Given the description of an element on the screen output the (x, y) to click on. 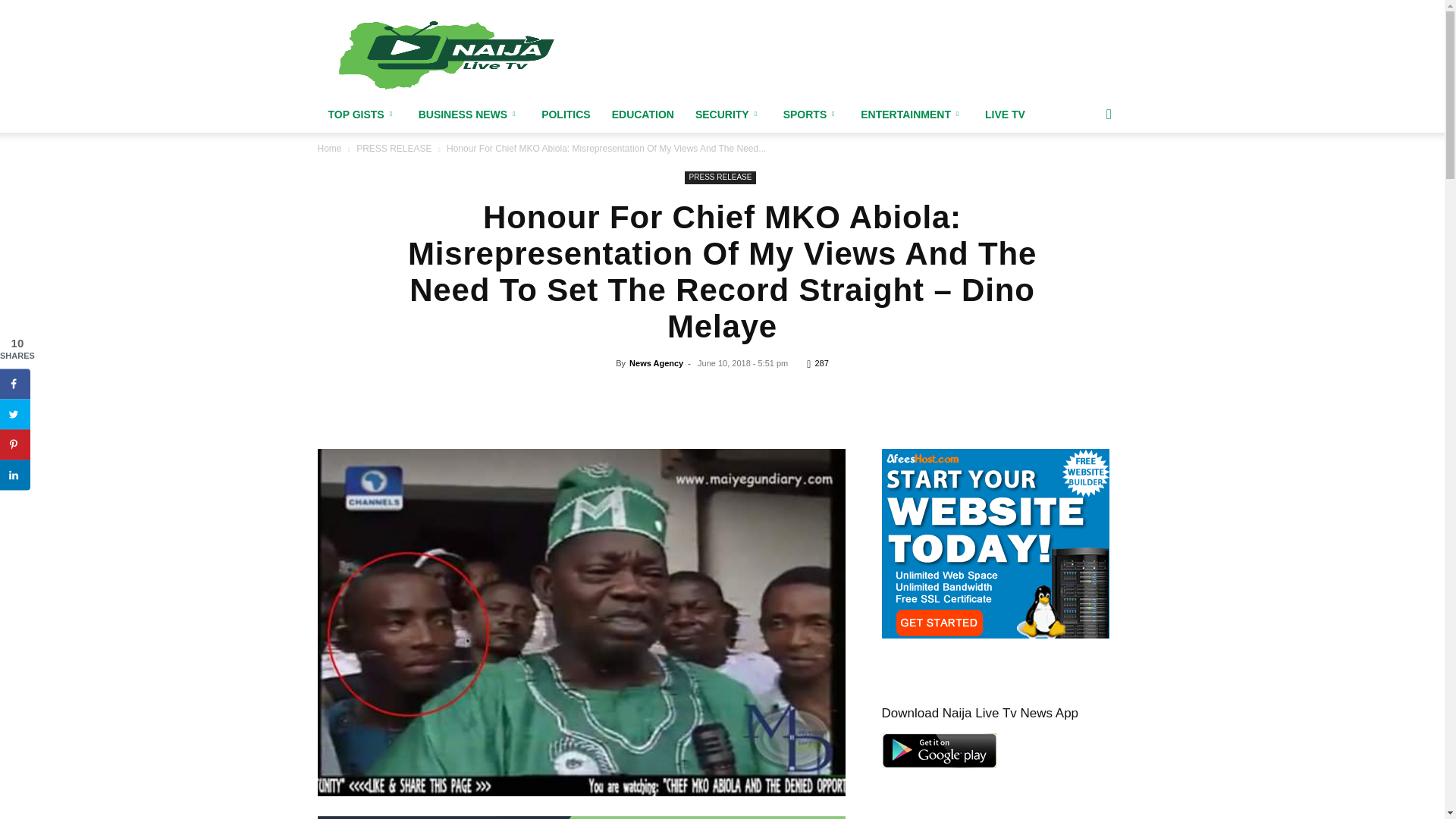
View all posts in PRESS RELEASE (393, 148)
EDUCATION (642, 114)
POLITICS (566, 114)
TOP GISTS (362, 114)
BUSINESS NEWS (469, 114)
SECURITY (728, 114)
